Given the description of an element on the screen output the (x, y) to click on. 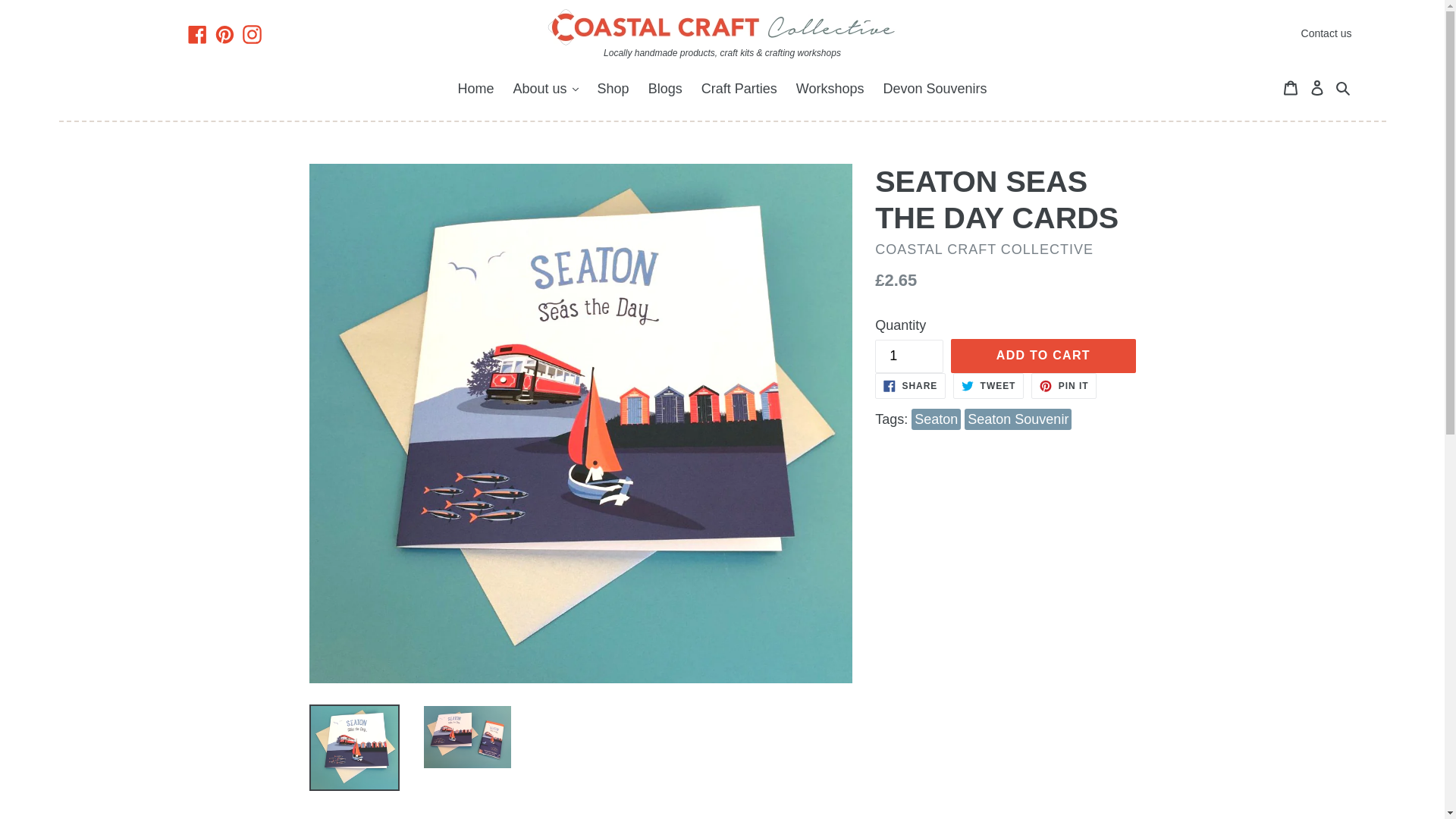
Tweet on Twitter (988, 385)
Pinterest (223, 33)
Share on Facebook (909, 385)
Instagram (251, 33)
Coastal Craft Collective on Facebook (197, 33)
Facebook (197, 33)
Show products matching tag Seaton Souvenir (1018, 418)
Pin on Pinterest (1063, 385)
1 (909, 356)
Coastal Craft Collective on Pinterest (223, 33)
